Given the description of an element on the screen output the (x, y) to click on. 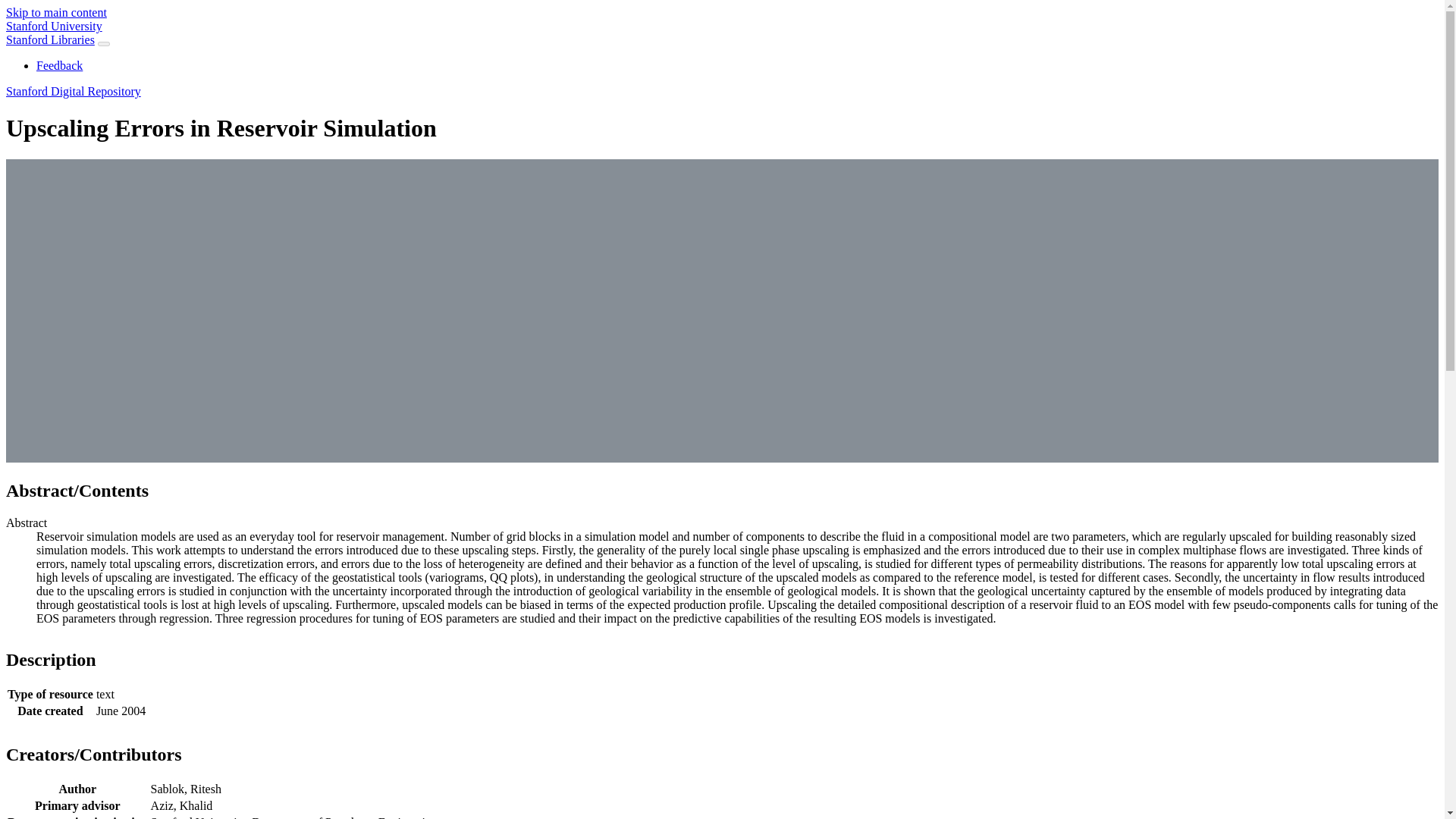
Stanford Libraries (49, 39)
Skip to main content (55, 11)
Stanford Digital Repository (73, 91)
Feedback (59, 65)
Stanford University (53, 25)
